Given the description of an element on the screen output the (x, y) to click on. 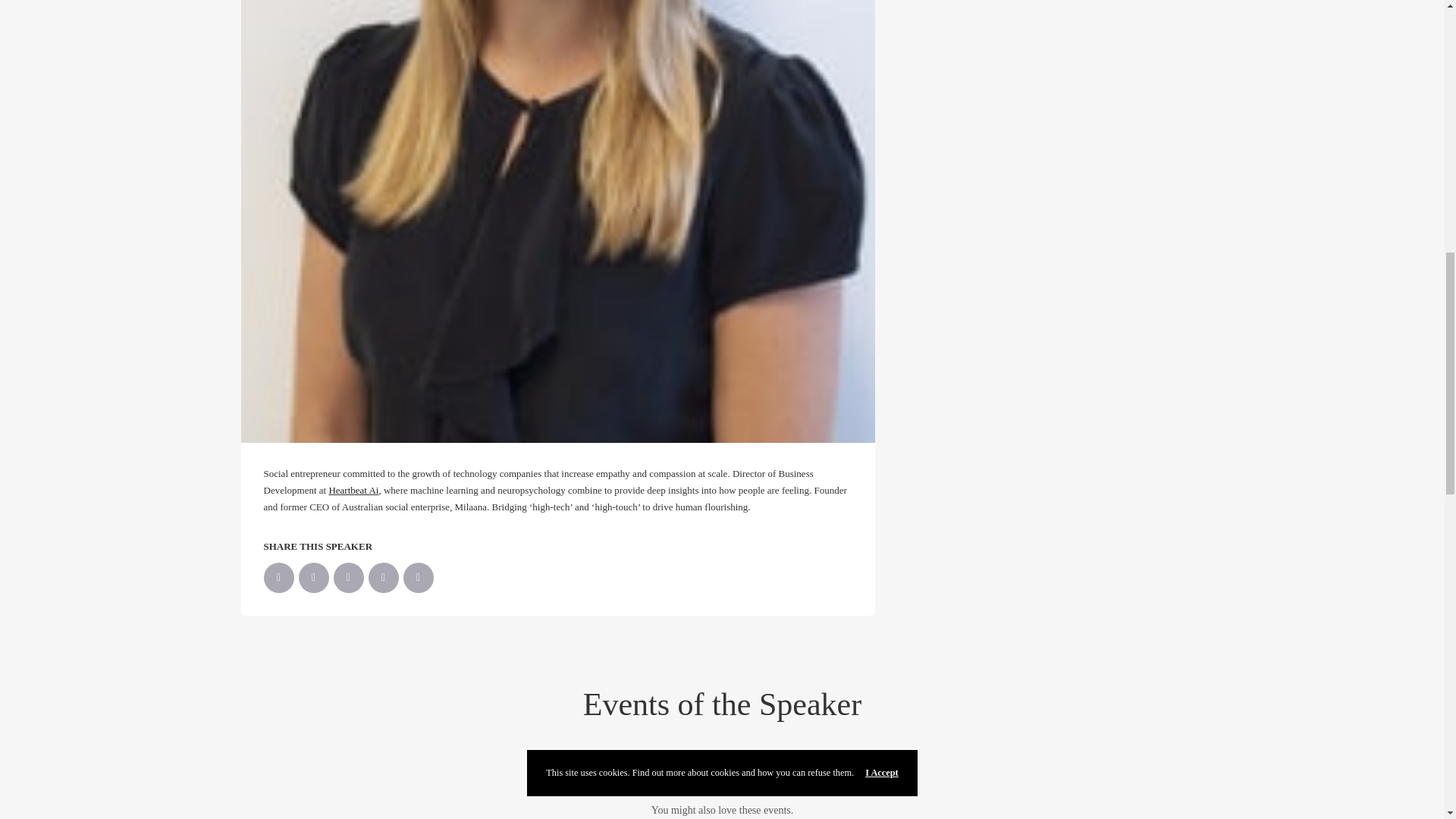
Heartbeat Ai (353, 490)
